Given the description of an element on the screen output the (x, y) to click on. 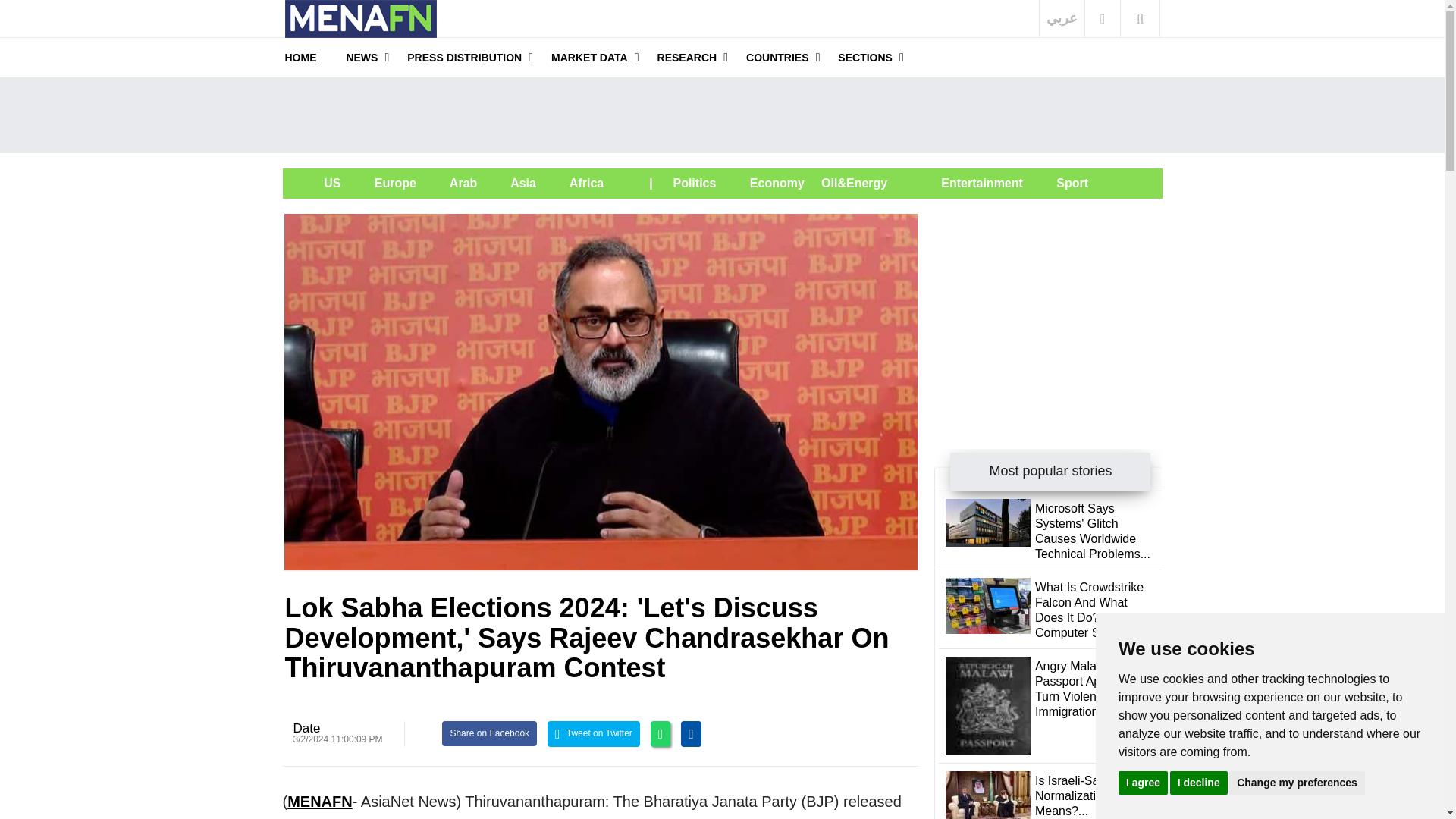
PRESS DISTRIBUTION (464, 56)
Posts by NewEdge (306, 728)
I decline (1198, 781)
Advertisement (1047, 308)
I agree (1142, 781)
Change my preferences (1296, 781)
MARKET DATA (589, 56)
